Given the description of an element on the screen output the (x, y) to click on. 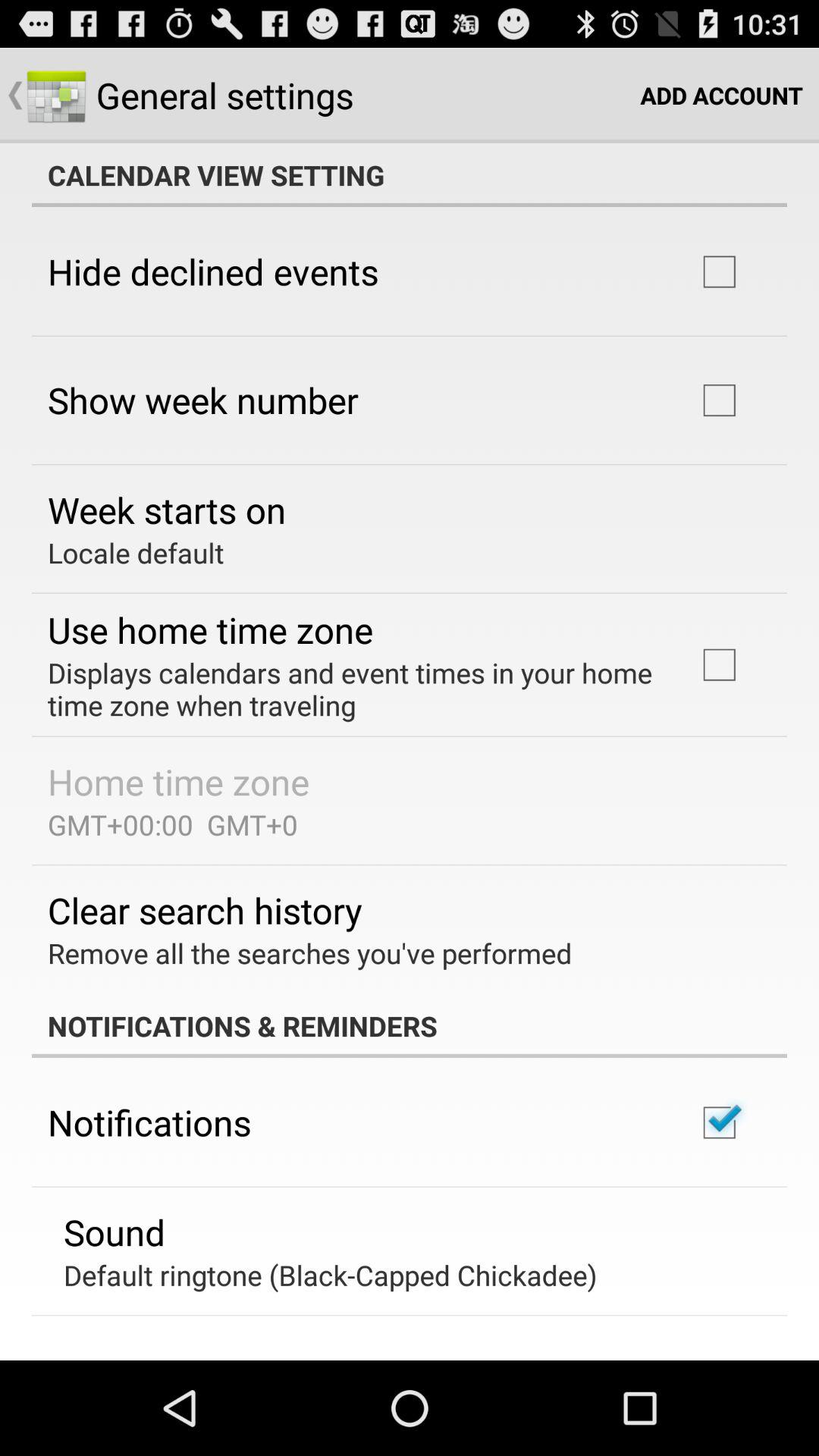
jump to vibrate app (119, 1357)
